Given the description of an element on the screen output the (x, y) to click on. 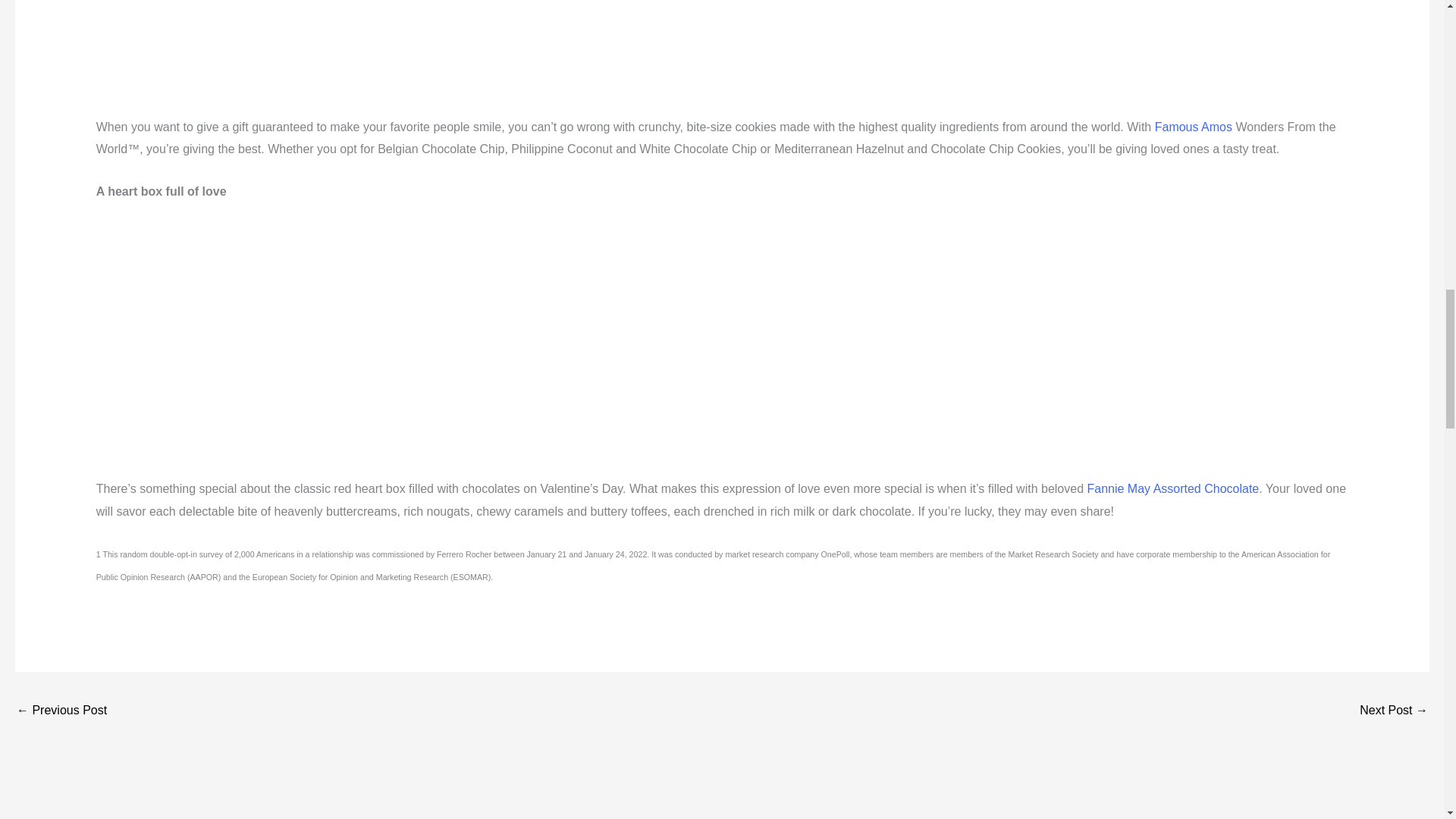
Famous Amos (1192, 126)
Fannie May Assorted Chocolate (1172, 488)
5 tips for hosting an epic big game get-together (61, 711)
Smart and simple bathroom updates for aging in place (1393, 711)
